Given the description of an element on the screen output the (x, y) to click on. 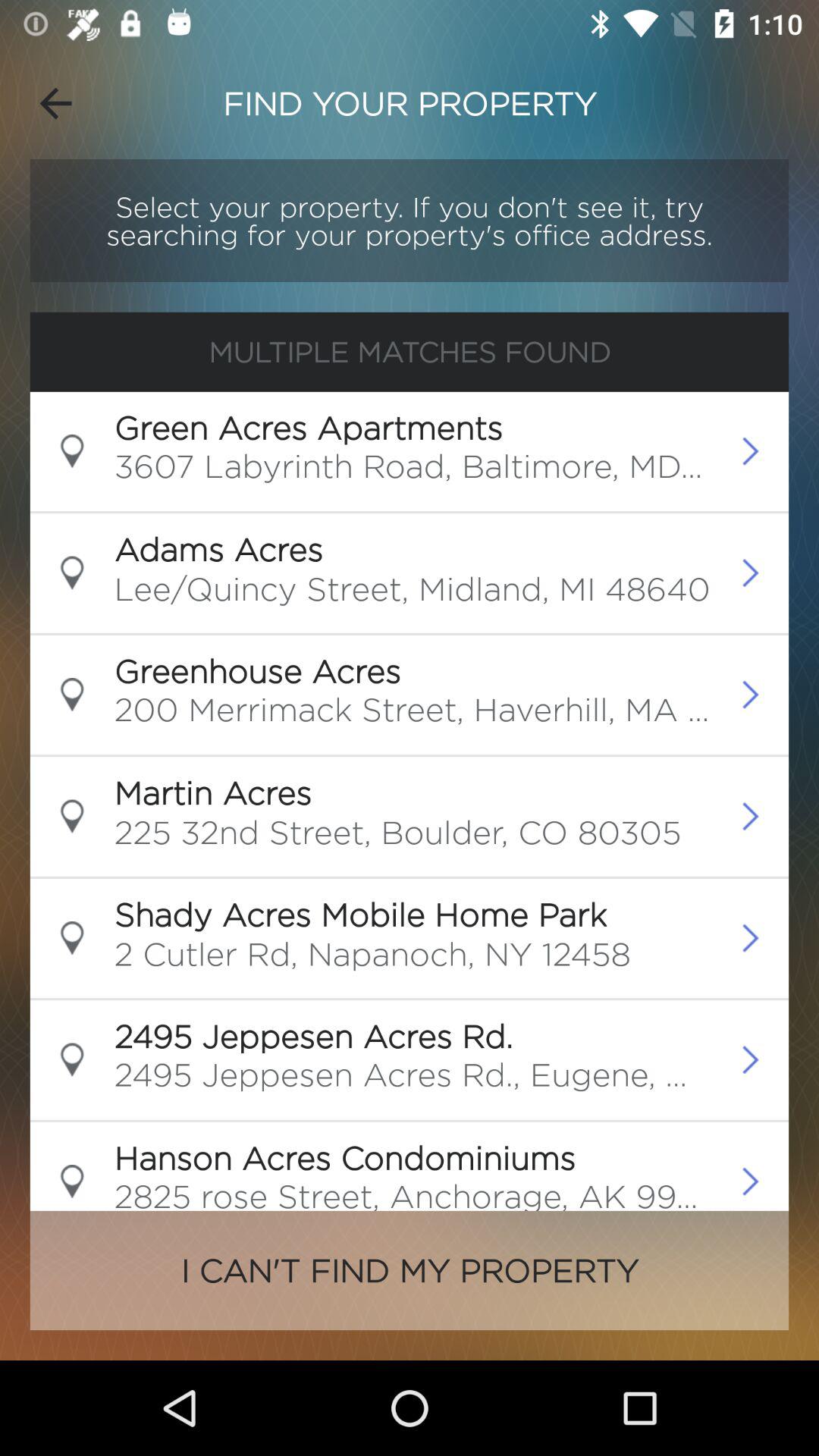
launch app below the greenhouse acres icon (413, 714)
